Given the description of an element on the screen output the (x, y) to click on. 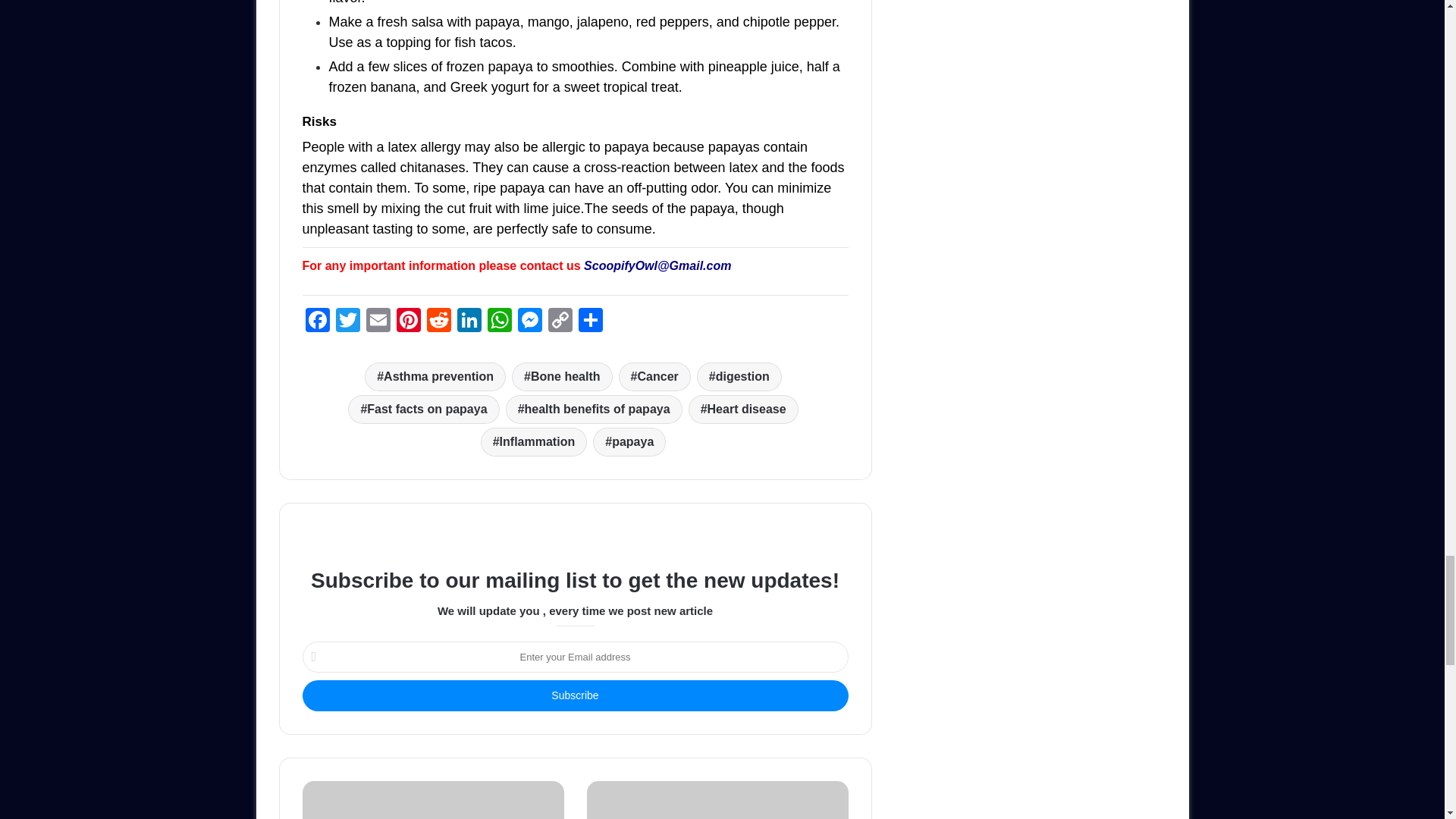
WhatsApp (498, 321)
Subscribe (574, 695)
Twitter (346, 321)
Facebook (316, 321)
Email (377, 321)
Reddit (437, 321)
Pinterest (408, 321)
LinkedIn (467, 321)
